Given the description of an element on the screen output the (x, y) to click on. 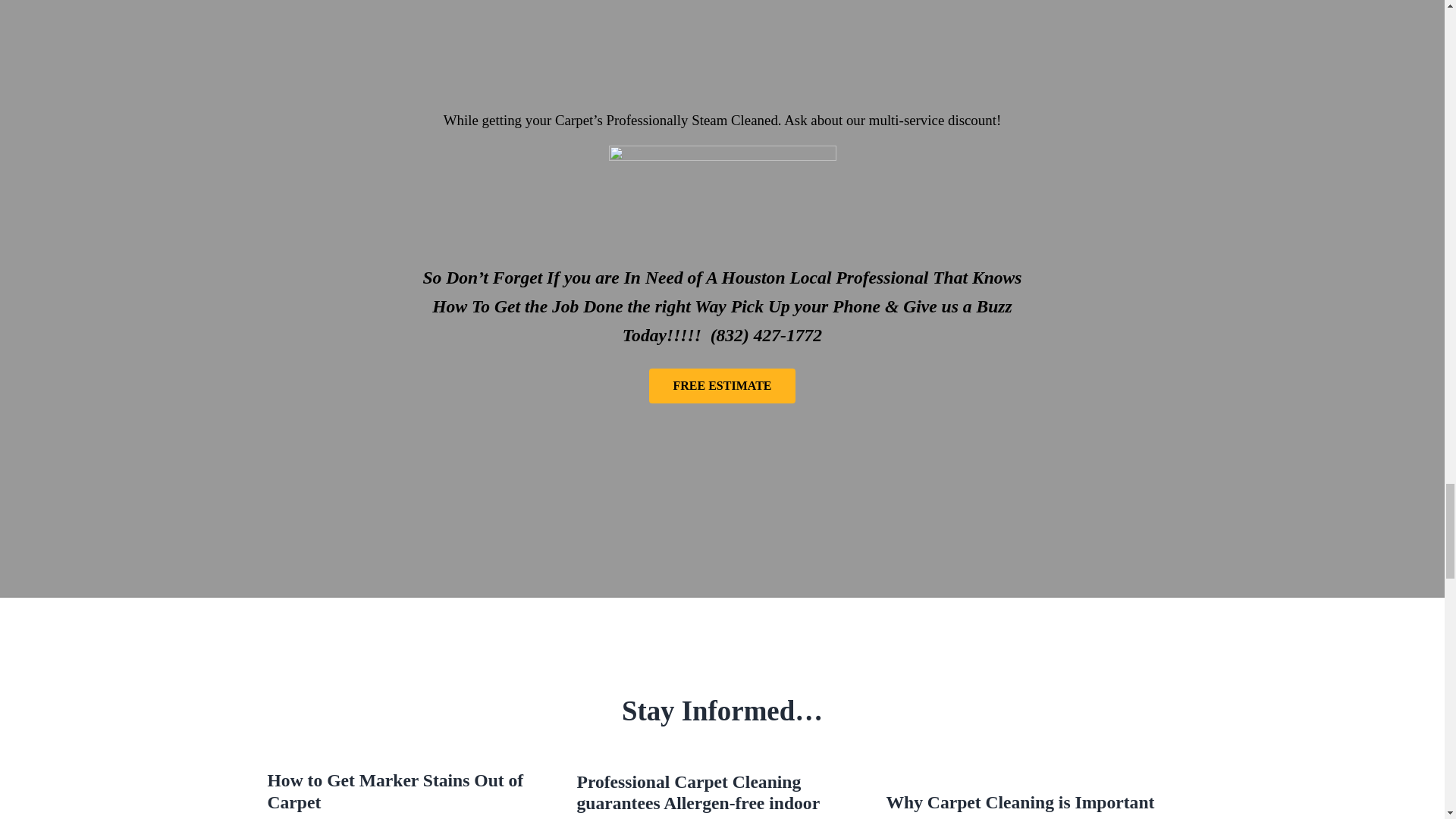
Why Carpet Cleaning is Important (1030, 802)
How to Get Marker Stains Out of Carpet (411, 791)
FREE ESTIMATE (722, 385)
